Given the description of an element on the screen output the (x, y) to click on. 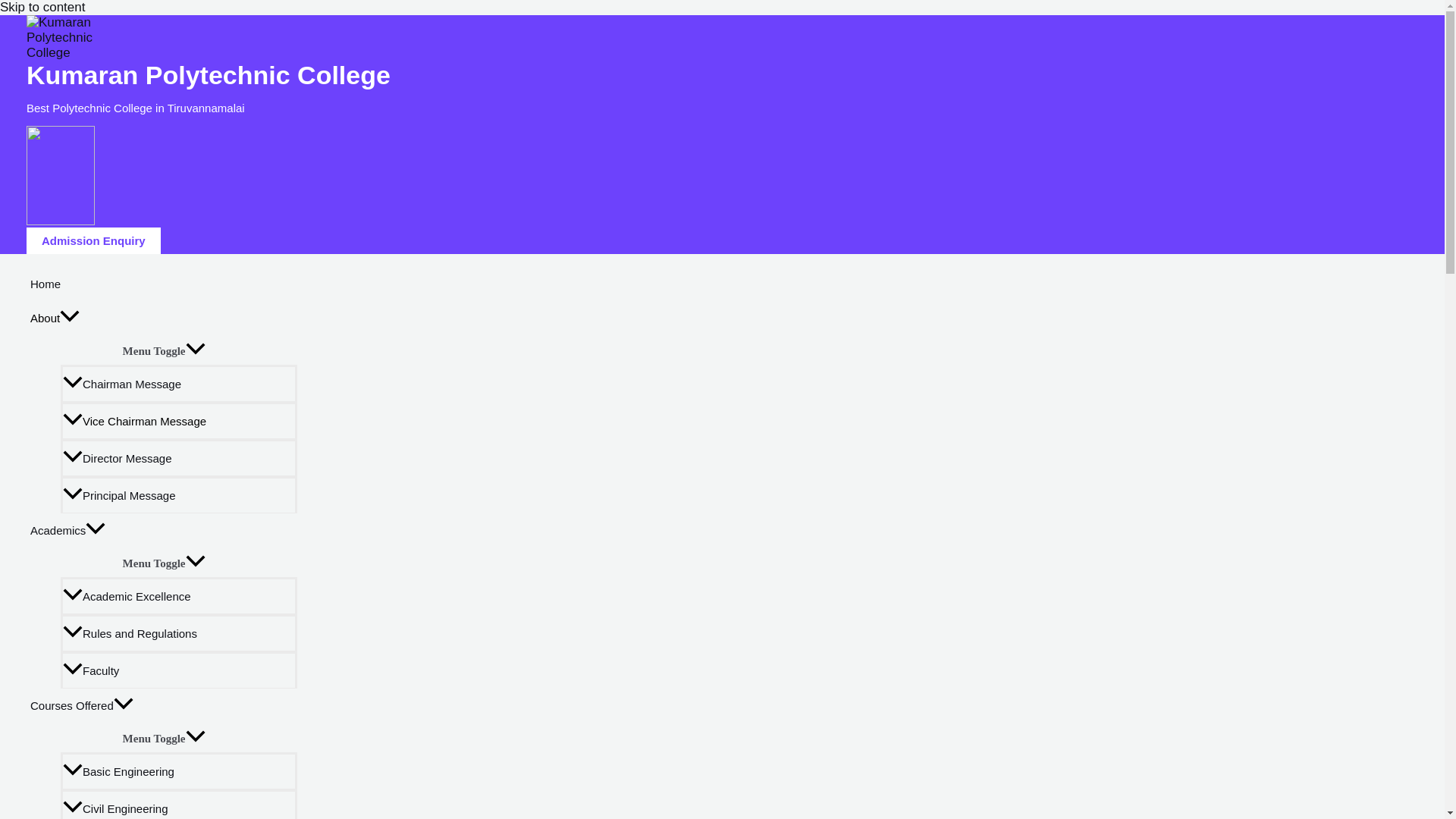
Academic Excellence (179, 595)
Faculty (179, 669)
About (163, 317)
Menu Toggle (163, 349)
Skip to content (42, 7)
Skip to content (42, 7)
Kumaran Polytechnic College (208, 74)
Admission Enquiry (93, 240)
Chairman Message (179, 383)
Menu Toggle (163, 562)
